Given the description of an element on the screen output the (x, y) to click on. 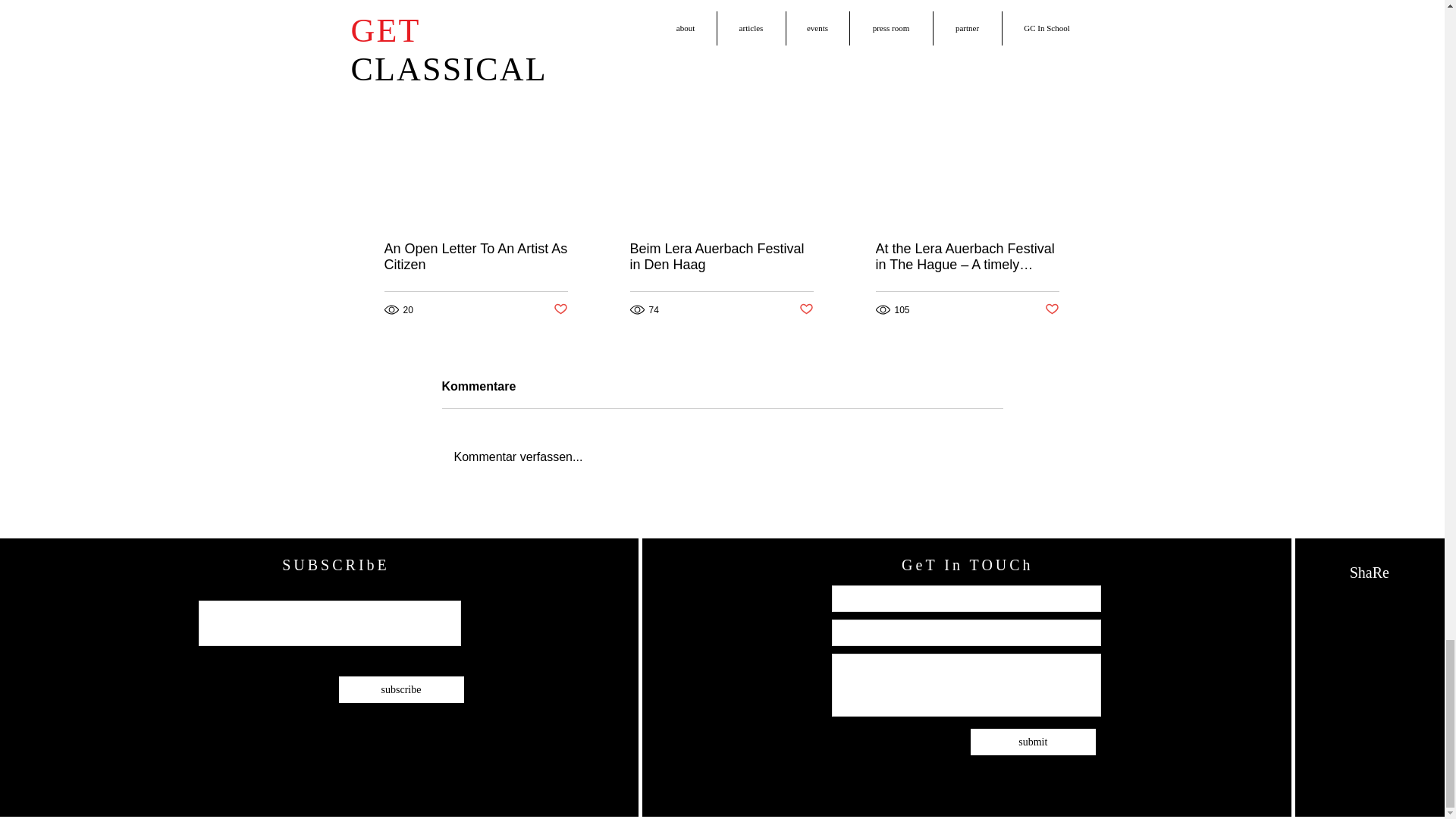
Post not marked as liked (806, 309)
Post not marked as liked (560, 309)
Beim Lera Auerbach Festival in Den Haag (720, 256)
See All (1061, 73)
An Open Letter To An Artist As Citizen (475, 256)
